Given the description of an element on the screen output the (x, y) to click on. 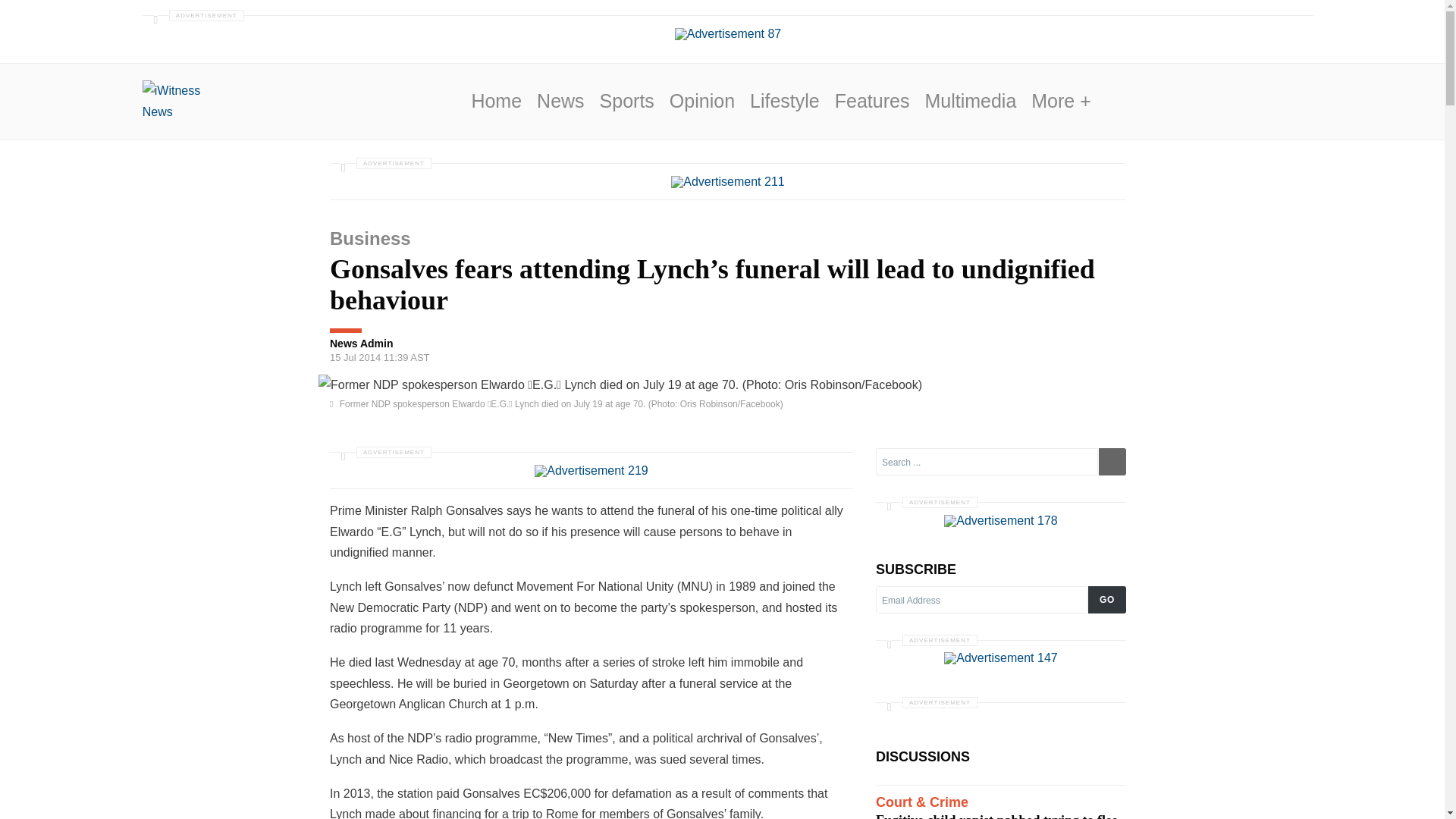
News (561, 100)
Home (495, 100)
